Given the description of an element on the screen output the (x, y) to click on. 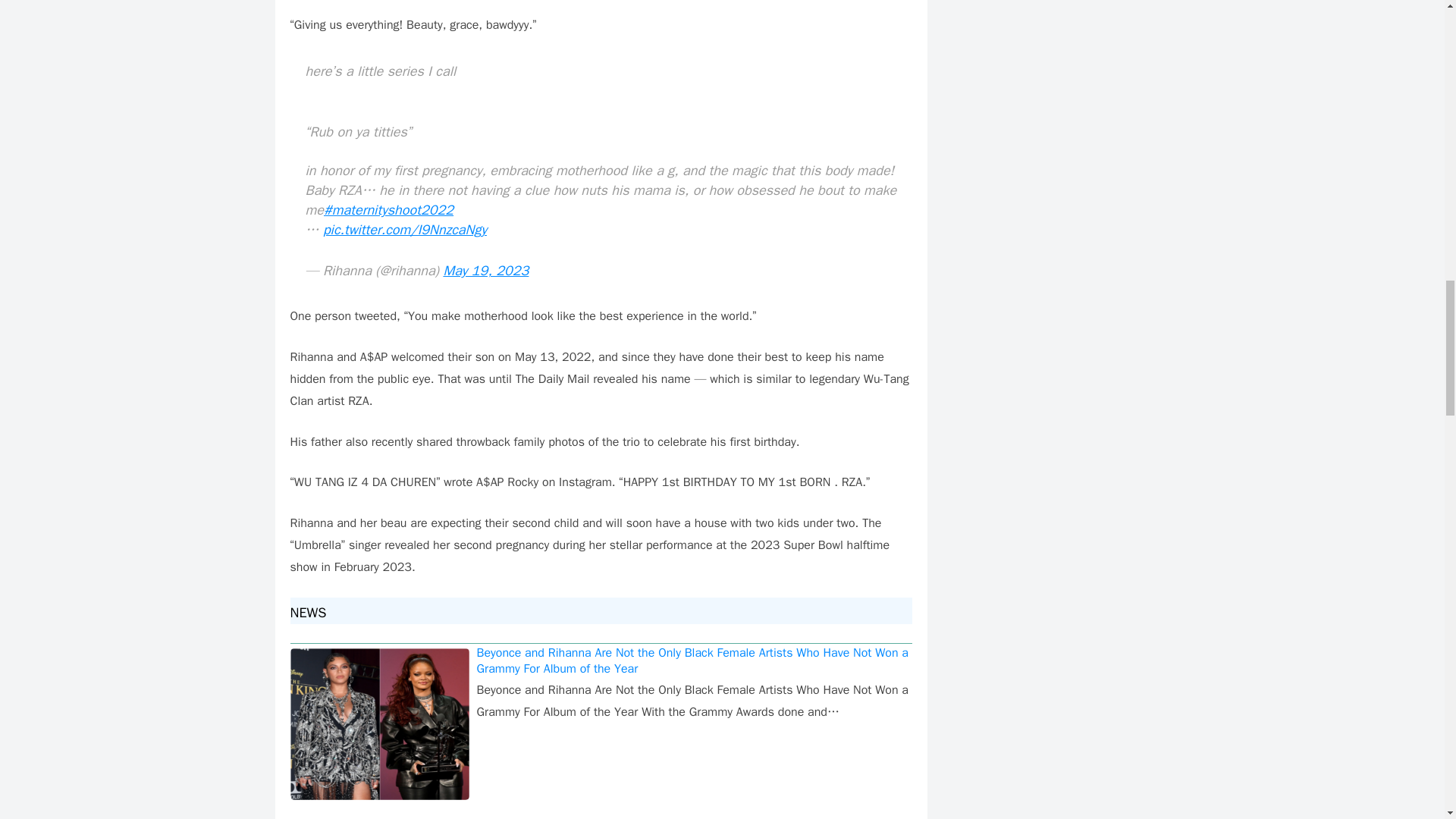
May 19, 2023 (485, 270)
NEWS (314, 612)
